Given the description of an element on the screen output the (x, y) to click on. 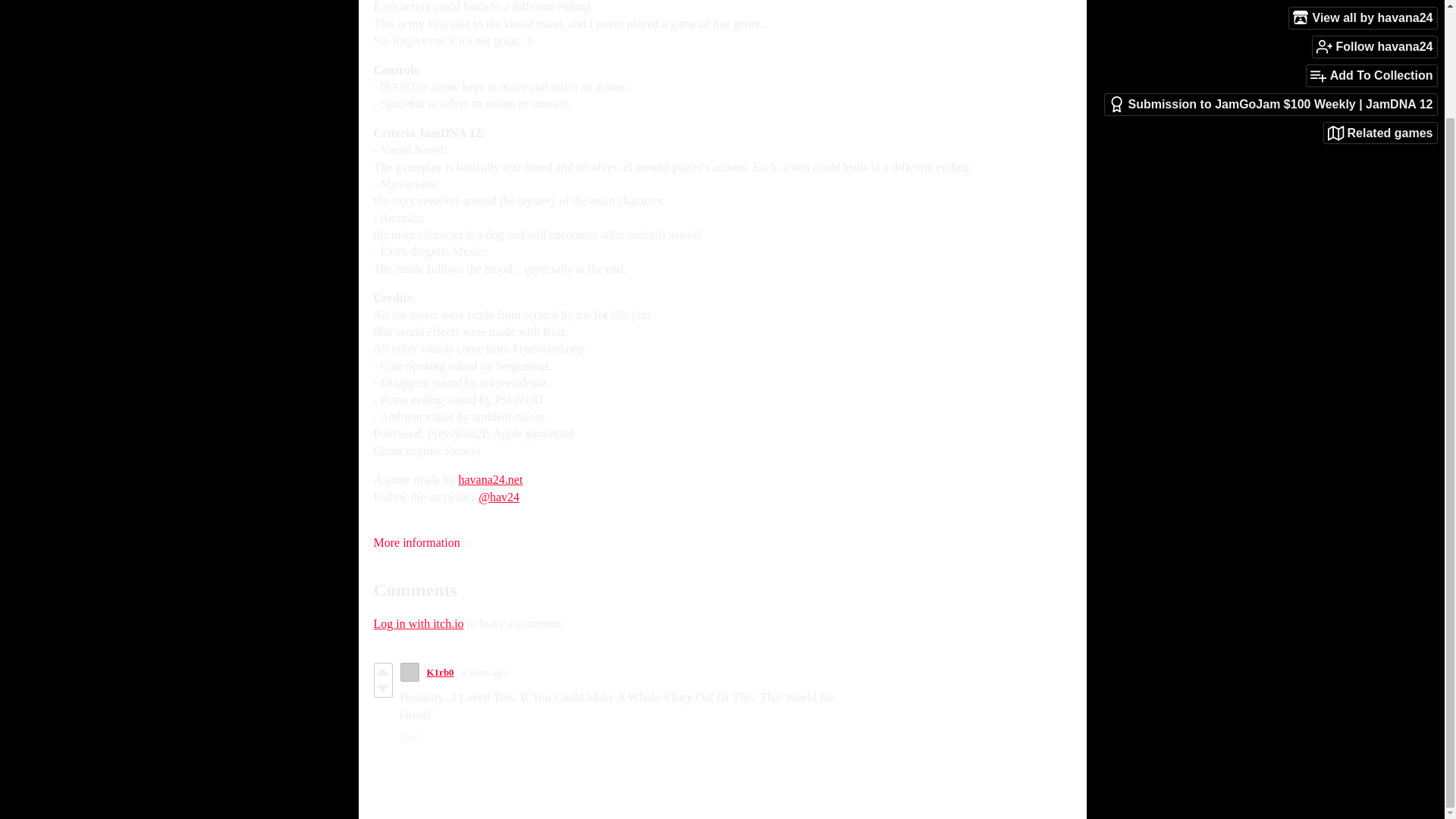
Log in with itch.io (417, 623)
K1rb0 (439, 672)
Reply (411, 736)
2020-05-28 01:39:56 (483, 672)
Related games (1380, 8)
havana24.net (490, 479)
More information (421, 542)
Vote up (382, 671)
4 years ago (483, 672)
Vote down (382, 688)
